Given the description of an element on the screen output the (x, y) to click on. 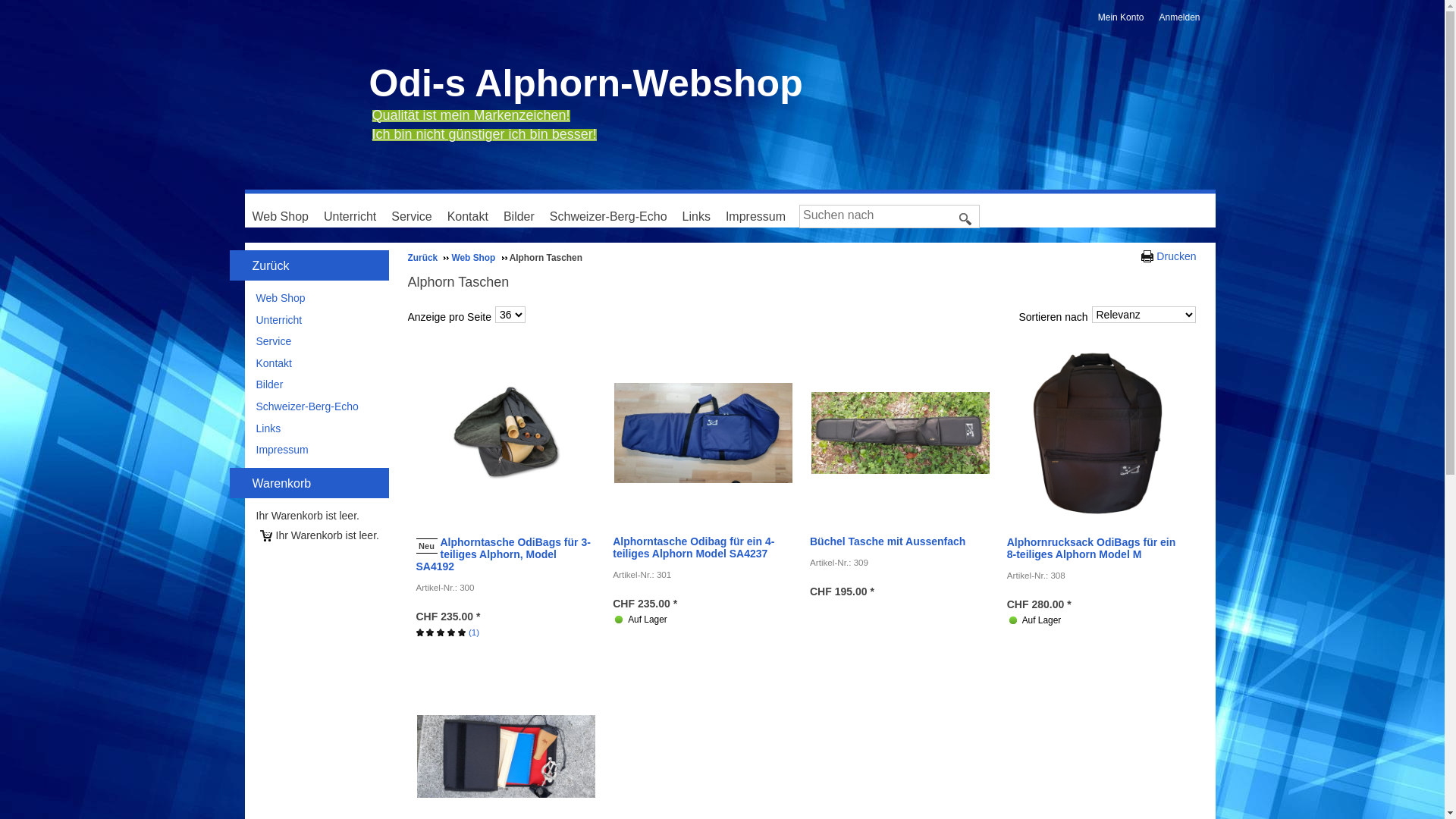
Anmelden Element type: text (1182, 17)
Kontakt Element type: text (471, 215)
Auf Lager Element type: hover (618, 619)
Impressum Element type: text (282, 449)
Schweizer-Berg-Echo Element type: text (307, 406)
Unterricht Element type: text (279, 319)
Web Shop Element type: text (283, 215)
Zum Produkt Element type: hover (900, 433)
Bilder Element type: text (269, 384)
Unterricht Element type: text (353, 215)
(1) Element type: text (447, 631)
Kontakt Element type: text (273, 363)
Service Element type: text (415, 215)
Mein Konto Element type: text (1124, 17)
Web Shop Element type: text (280, 297)
Suche starten Element type: hover (965, 218)
Impressum Element type: text (759, 215)
Zum Produkt Element type: hover (1097, 433)
Links Element type: text (268, 428)
Bilder Element type: text (522, 215)
Odi-s Alphorn-Webshop Element type: text (585, 83)
Service Element type: text (273, 341)
Auf Lager Element type: hover (1013, 620)
Zum Produkt Element type: hover (703, 432)
Zum Produkt Element type: hover (506, 433)
Schweizer-Berg-Echo Element type: text (611, 215)
Drucken Element type: text (1168, 257)
Zum Produkt Element type: hover (506, 756)
Links Element type: text (700, 215)
Web Shop Element type: text (478, 257)
